Given the description of an element on the screen output the (x, y) to click on. 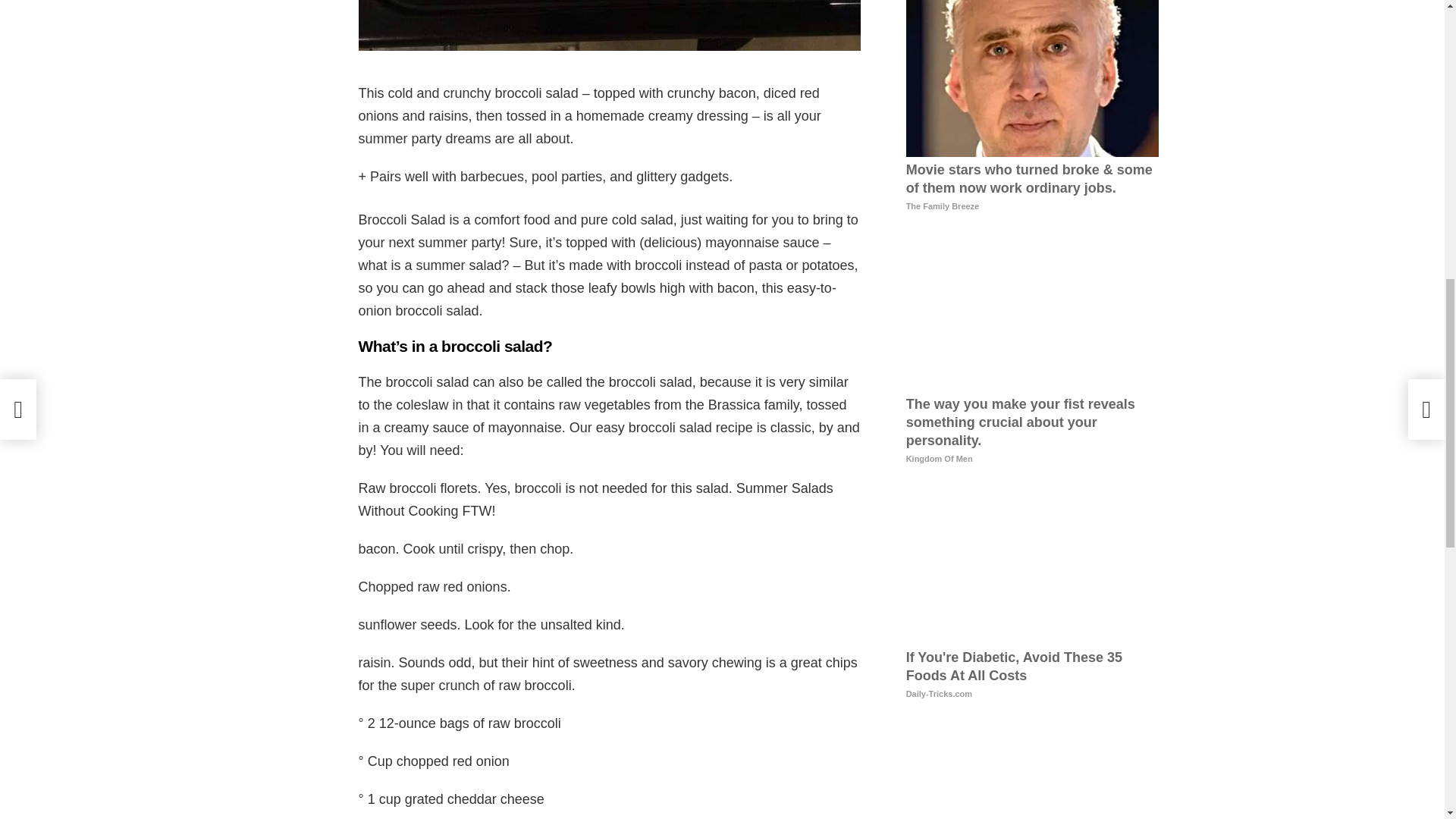
EASY BROCCOLI SALAD 3 (609, 25)
